Given the description of an element on the screen output the (x, y) to click on. 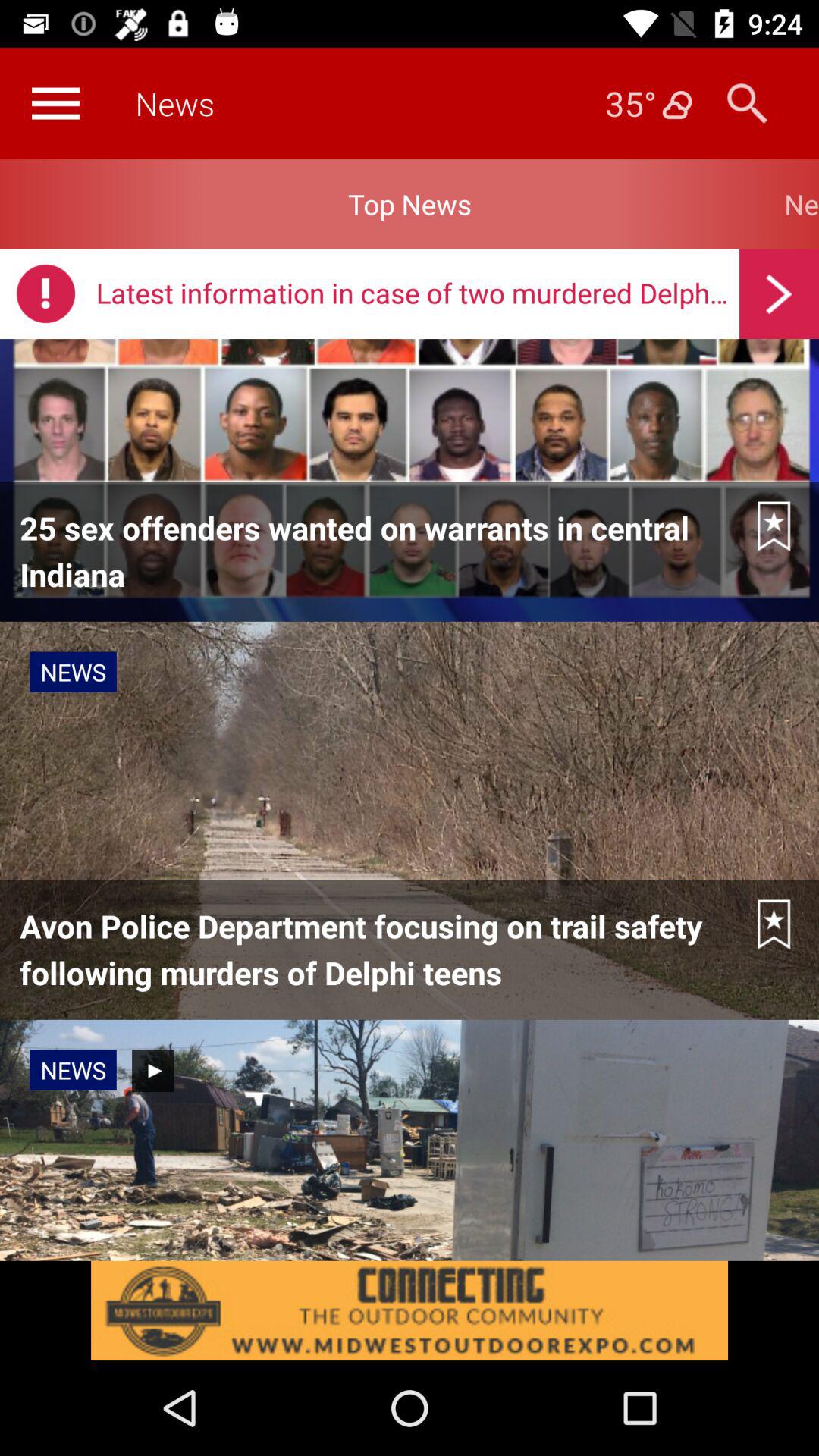
more (55, 103)
